Given the description of an element on the screen output the (x, y) to click on. 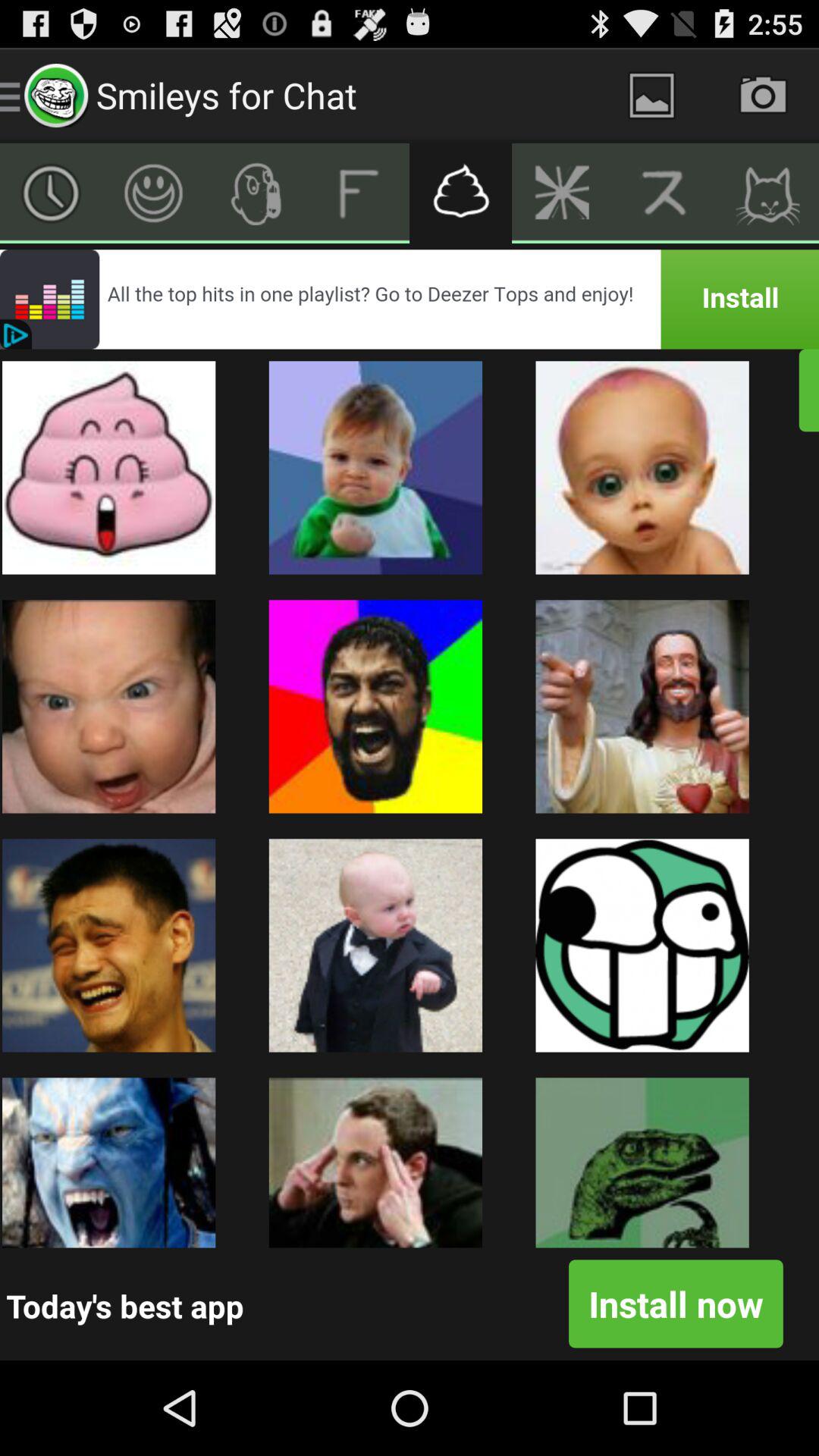
select a photo (651, 95)
